Given the description of an element on the screen output the (x, y) to click on. 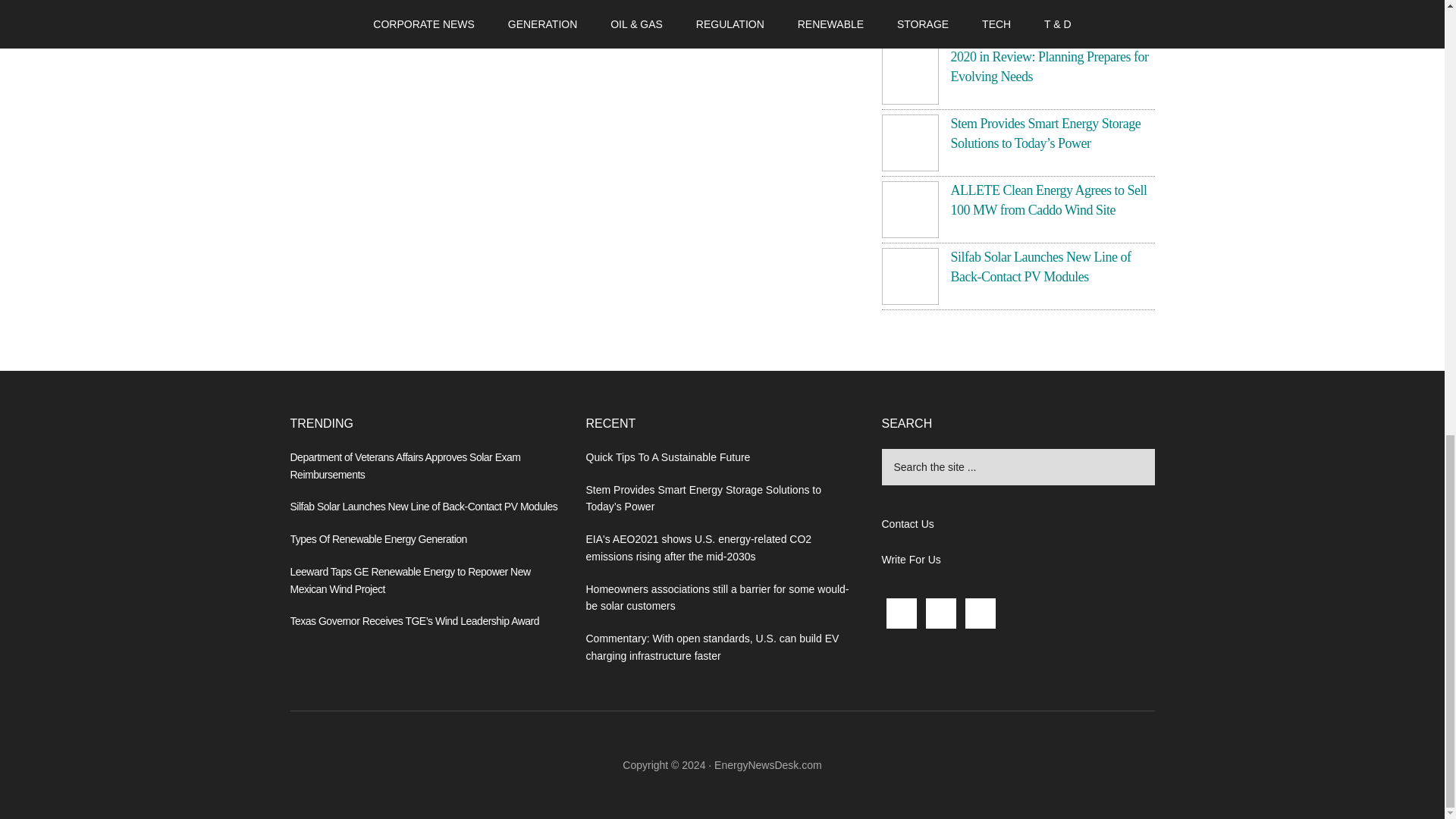
Cold Weather Alert Issued for Feb. 7-10 (1045, 8)
